Given the description of an element on the screen output the (x, y) to click on. 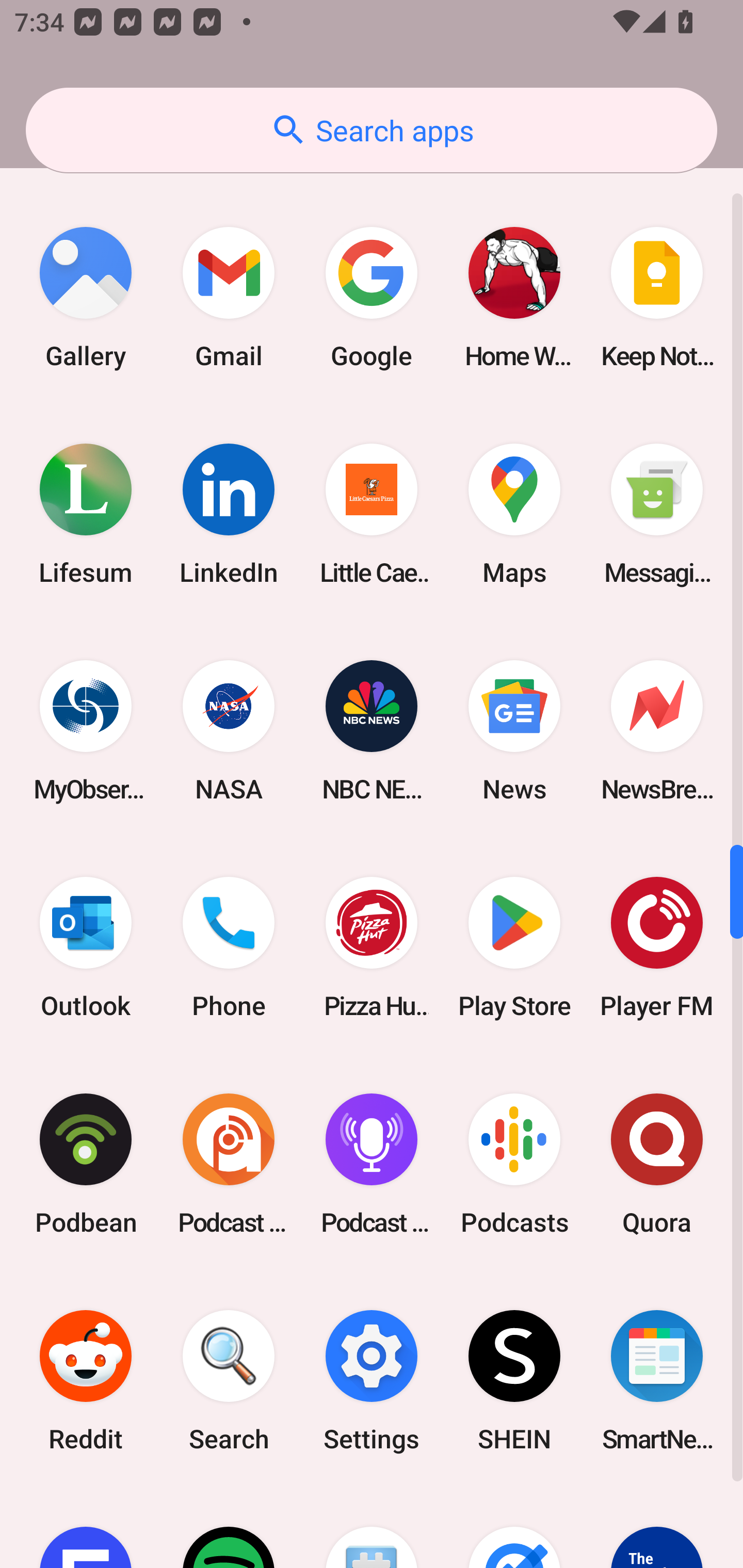
  Search apps (371, 130)
Gallery (85, 297)
Gmail (228, 297)
Google (371, 297)
Home Workout (514, 297)
Keep Notes (656, 297)
Lifesum (85, 514)
LinkedIn (228, 514)
Little Caesars Pizza (371, 514)
Maps (514, 514)
Messaging (656, 514)
MyObservatory (85, 730)
NASA (228, 730)
NBC NEWS (371, 730)
News (514, 730)
NewsBreak (656, 730)
Outlook (85, 946)
Phone (228, 946)
Pizza Hut HK & Macau (371, 946)
Play Store (514, 946)
Player FM (656, 946)
Podbean (85, 1164)
Podcast Addict (228, 1164)
Podcast Player (371, 1164)
Podcasts (514, 1164)
Quora (656, 1164)
Reddit (85, 1381)
Search (228, 1381)
Settings (371, 1381)
SHEIN (514, 1381)
SmartNews (656, 1381)
